Given the description of an element on the screen output the (x, y) to click on. 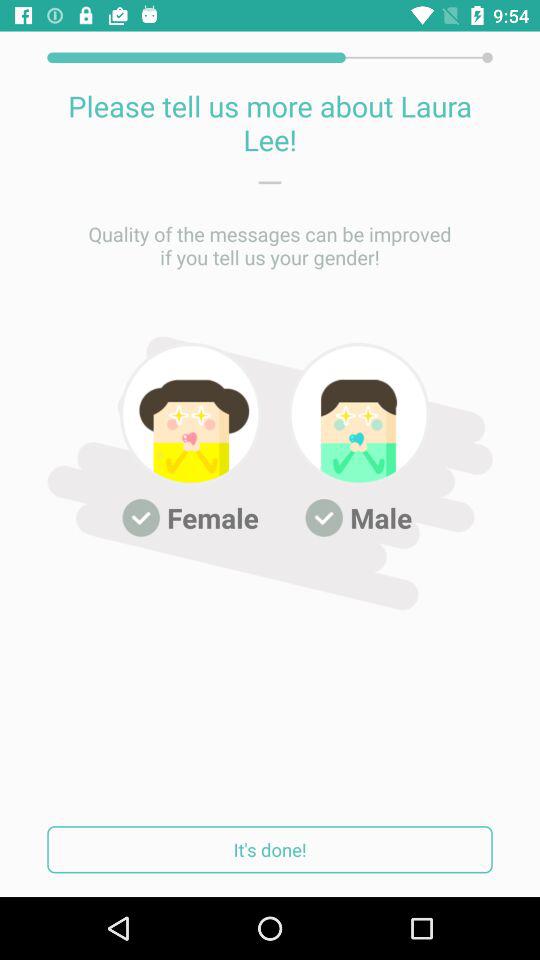
tap it's done! (269, 849)
